Given the description of an element on the screen output the (x, y) to click on. 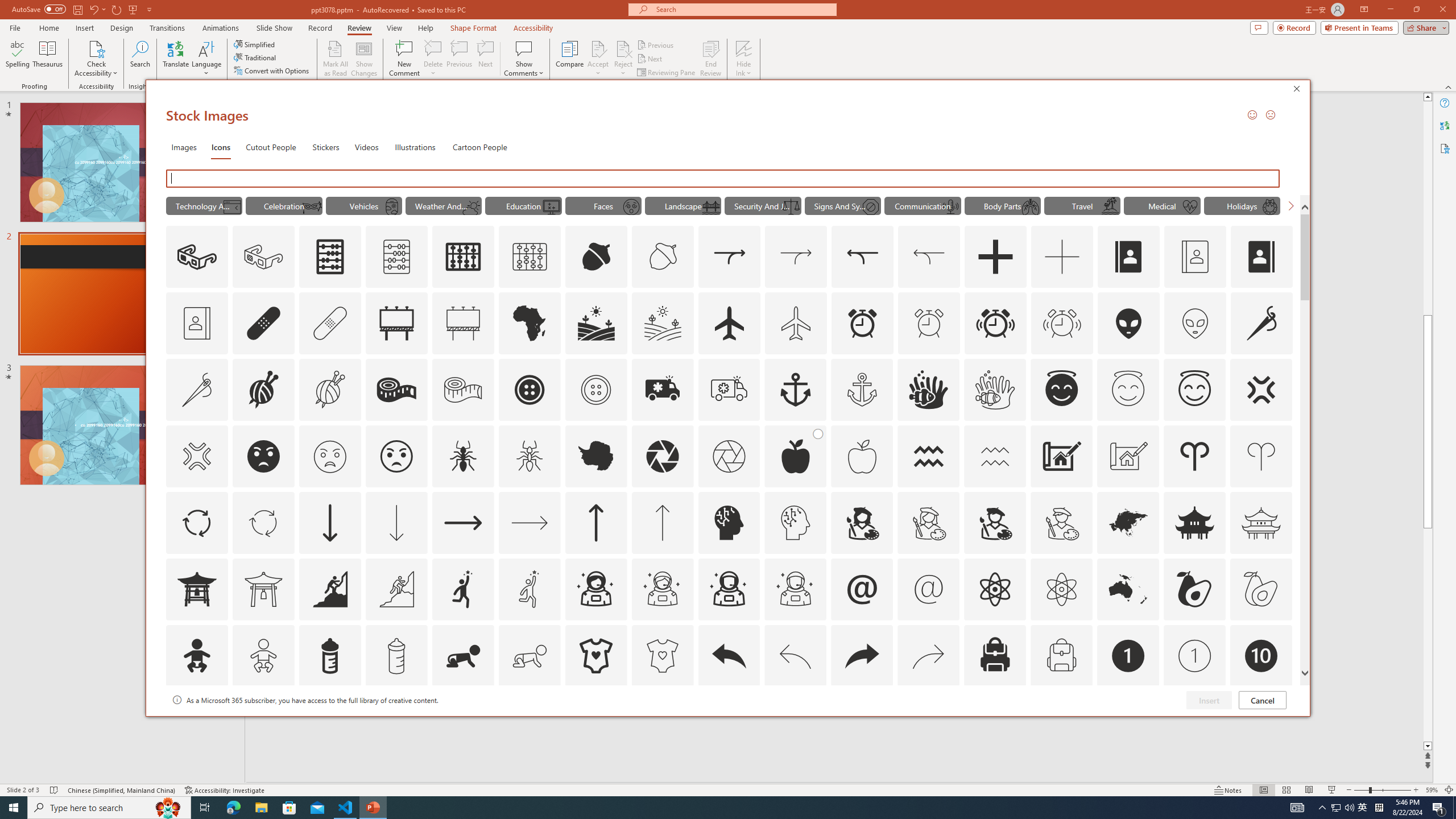
Thumbnail (1283, 699)
AutomationID: Icons_Badge10_M (196, 721)
AutomationID: Icons_BabyOnesie_M (662, 655)
"Faces" Icons. (603, 205)
AutomationID: Icons_CmdTerminal_RTL_M (231, 206)
AutomationID: Icons_AlterationsTailoring3 (529, 389)
AutomationID: Icons_Aquarius (928, 455)
